Given the description of an element on the screen output the (x, y) to click on. 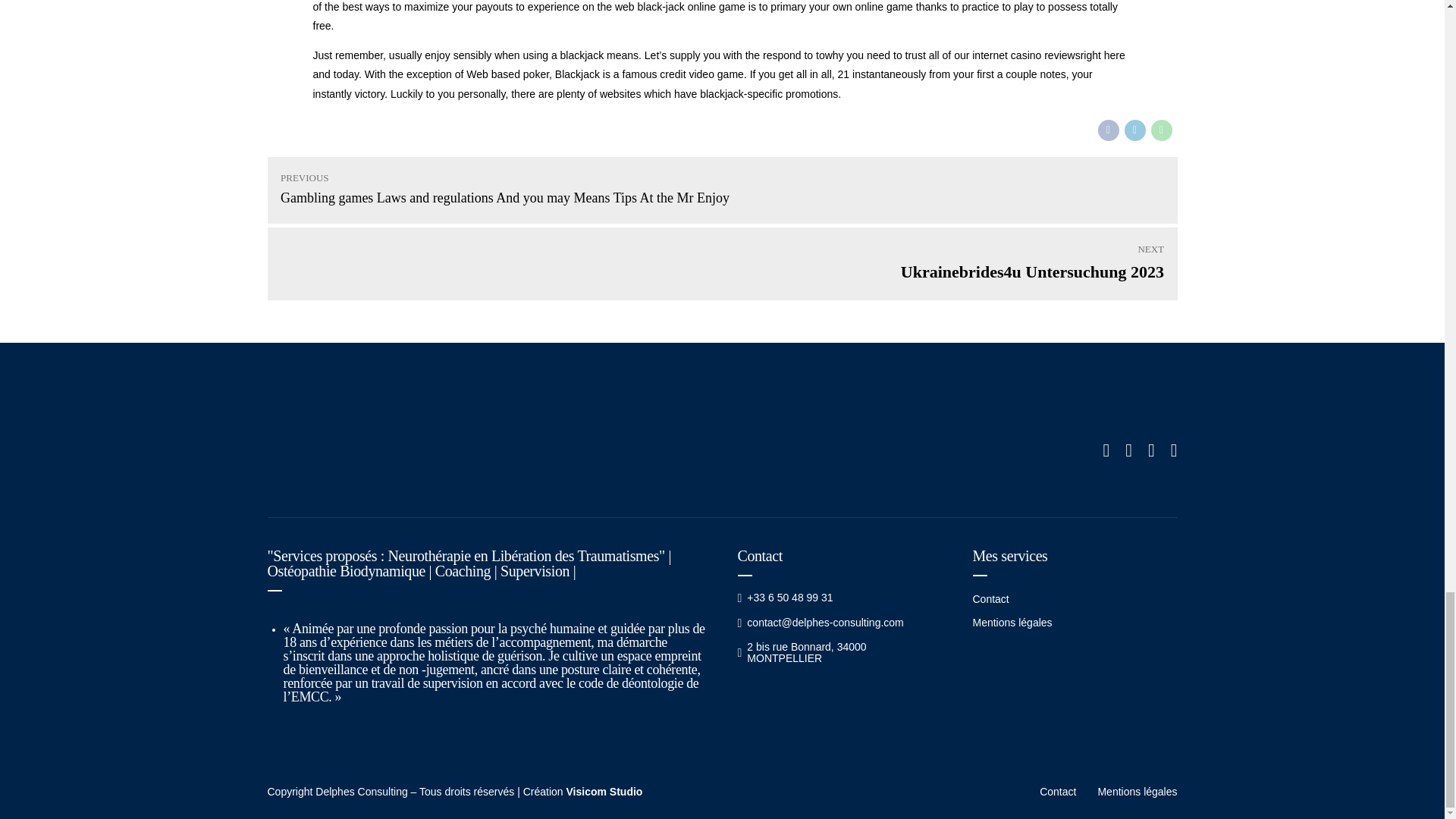
EMCC (310, 696)
logo-delphes-2 (721, 263)
2 bis rue Bonnard, 34000 MONTPELLIER (387, 450)
